Given the description of an element on the screen output the (x, y) to click on. 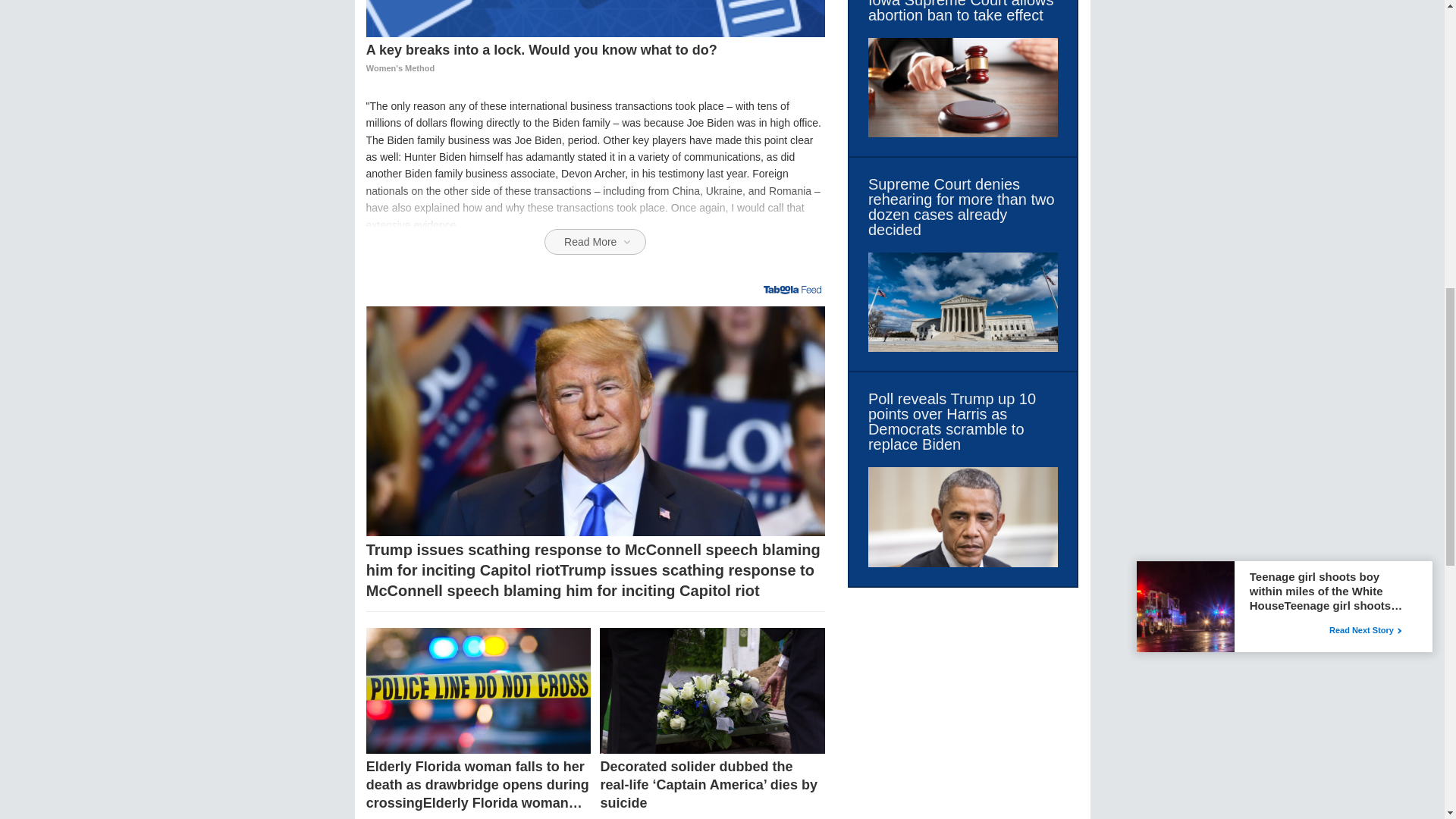
A key breaks into a lock. Would you know what to do? (595, 18)
Read More (595, 241)
Iowa Supreme Court allows abortion ban to take effect (962, 11)
A key breaks into a lock. Would you know what to do? (595, 58)
